Given the description of an element on the screen output the (x, y) to click on. 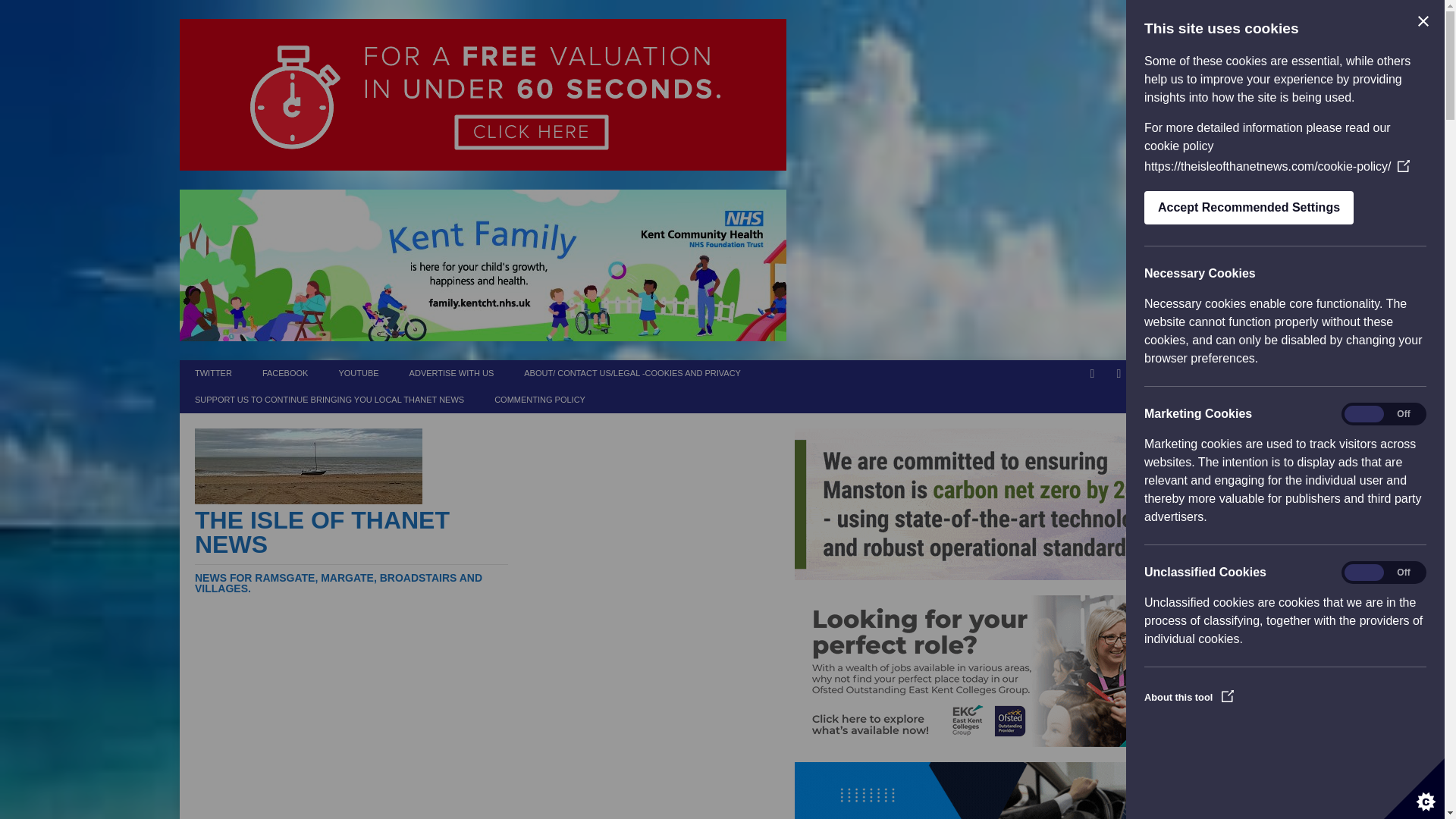
SUPPORT US TO CONTINUE BRINGING YOU LOCAL THANET NEWS (329, 399)
ADVERTISE WITH US (451, 373)
The Isle Of Thanet News (351, 550)
TWITTER (213, 373)
YOUTUBE (358, 373)
COMMENTING POLICY (539, 399)
FACEBOOK (285, 373)
